Given the description of an element on the screen output the (x, y) to click on. 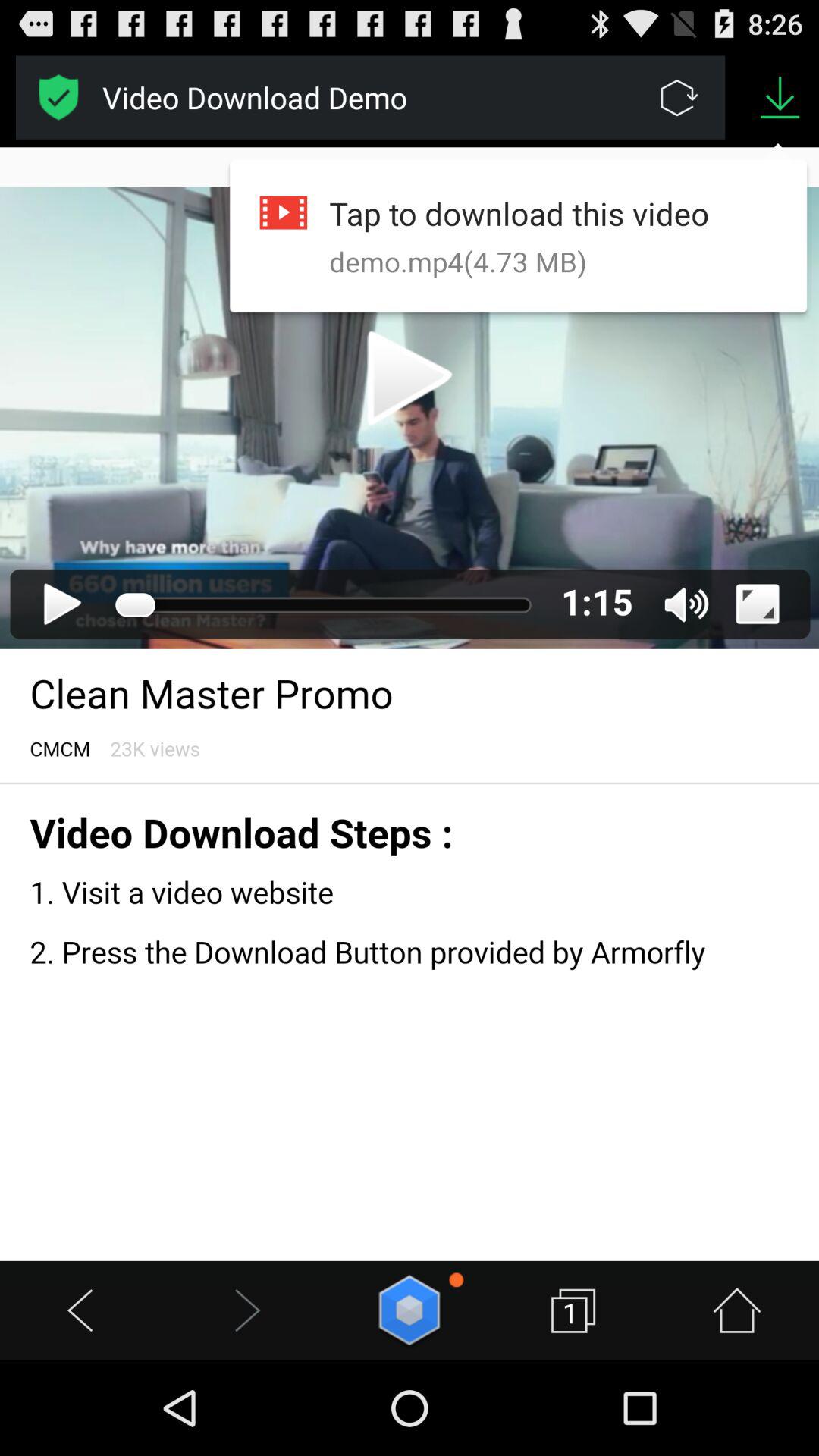
play button (409, 1310)
